Given the description of an element on the screen output the (x, y) to click on. 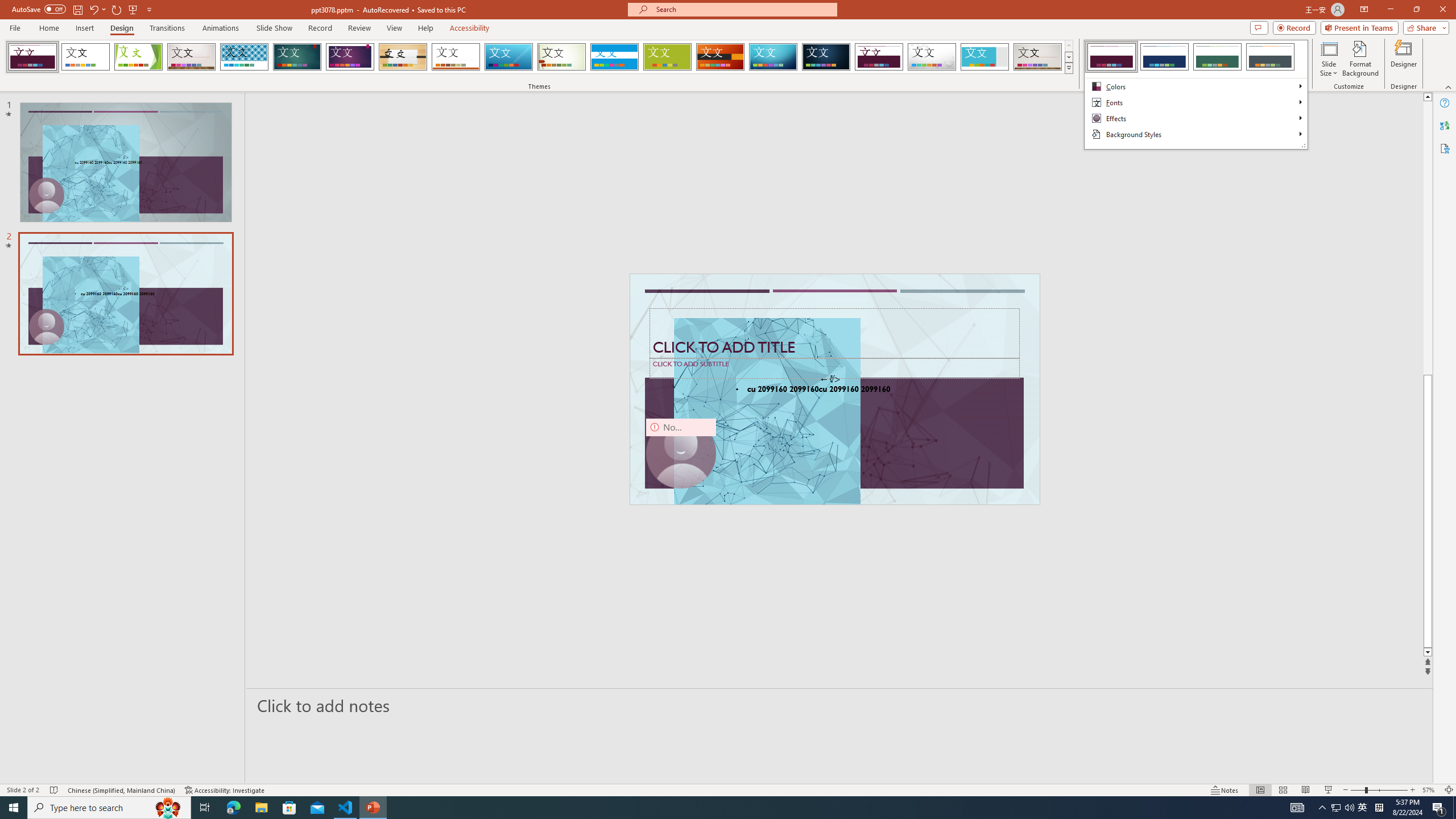
Themes (1068, 67)
Frame (984, 56)
PowerPoint - 1 running window (1335, 807)
Running applications (373, 807)
Damask (707, 807)
Banded (826, 56)
Gallery (614, 56)
